Given the description of an element on the screen output the (x, y) to click on. 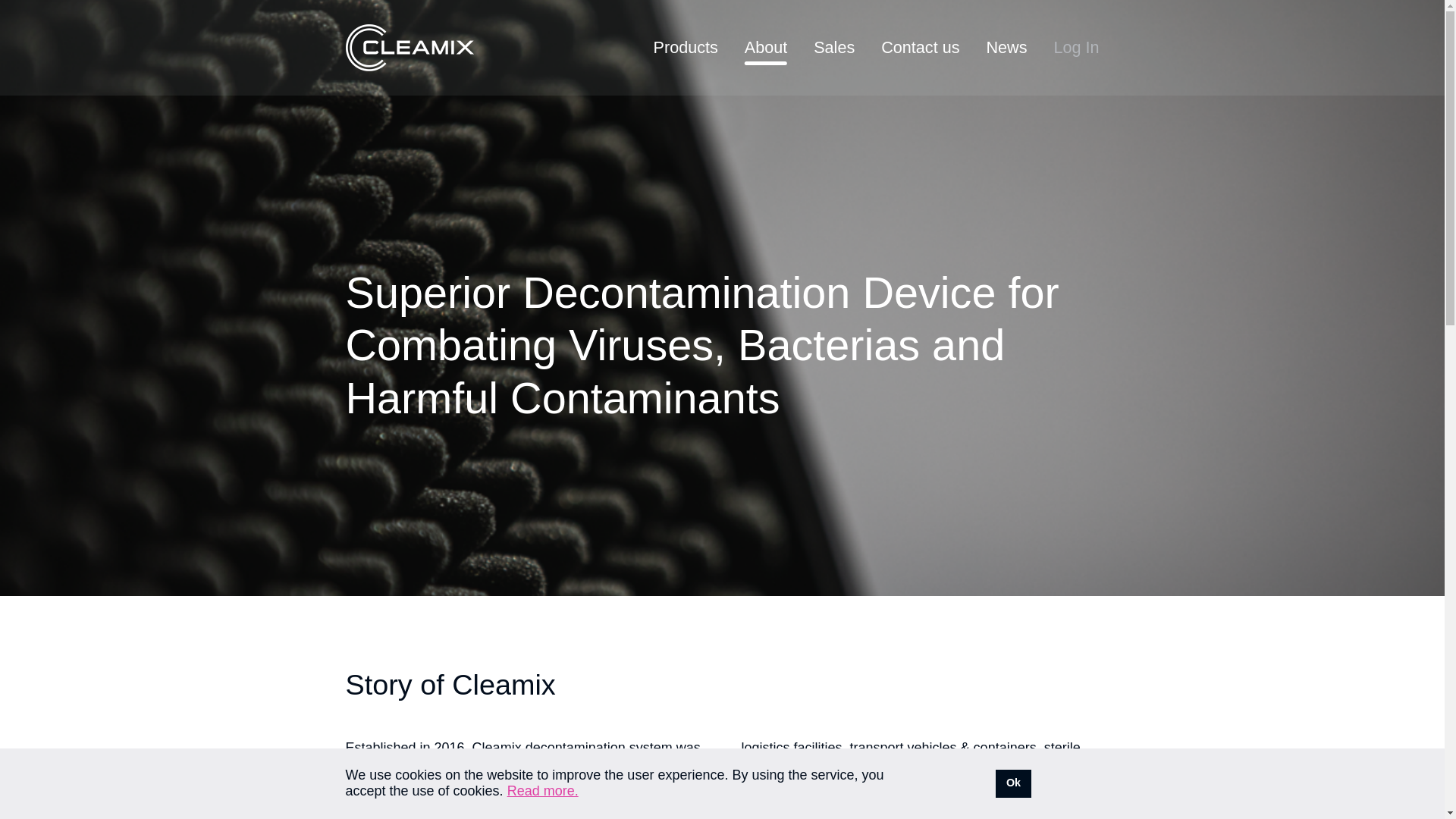
Log In (1075, 46)
Contact us (919, 46)
Read more. (542, 790)
Sales (833, 46)
Products (685, 46)
About (765, 46)
News (1005, 46)
